Given the description of an element on the screen output the (x, y) to click on. 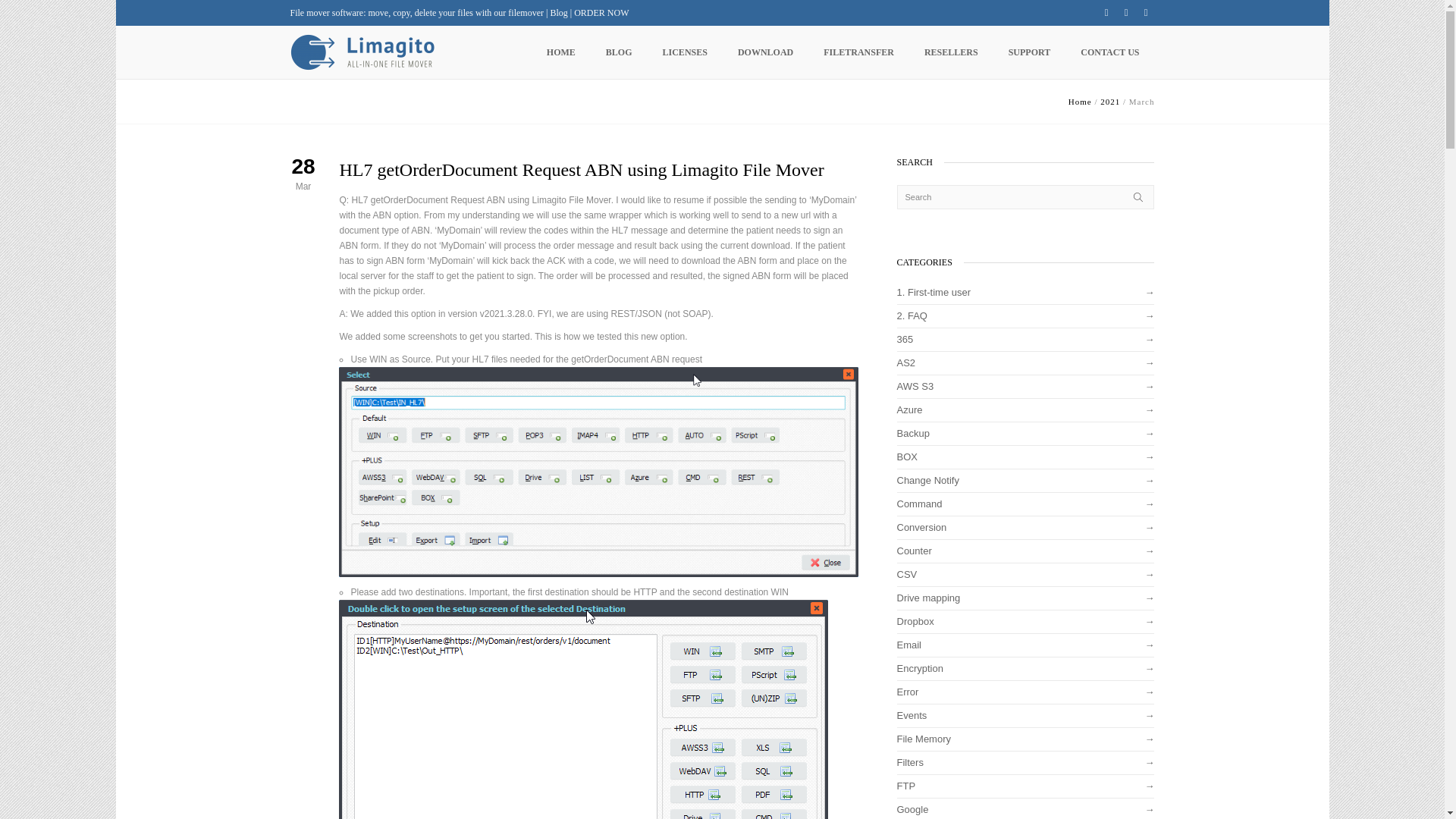
LinkedIn (1145, 12)
FILETRANSFER (858, 51)
Frequently Asked Questions about Limagito File Mover (1025, 318)
Twitter (1106, 12)
Blog articles related to FTP (1025, 788)
LICENSES (684, 51)
Search  (1025, 197)
RESELLERS (950, 51)
Home (1080, 101)
SUPPORT (1028, 51)
CONTACT US (1109, 51)
HOME (561, 51)
BLOG (619, 51)
HL7 getOrderDocument Request ABN using Limagito File Mover (581, 169)
